Given the description of an element on the screen output the (x, y) to click on. 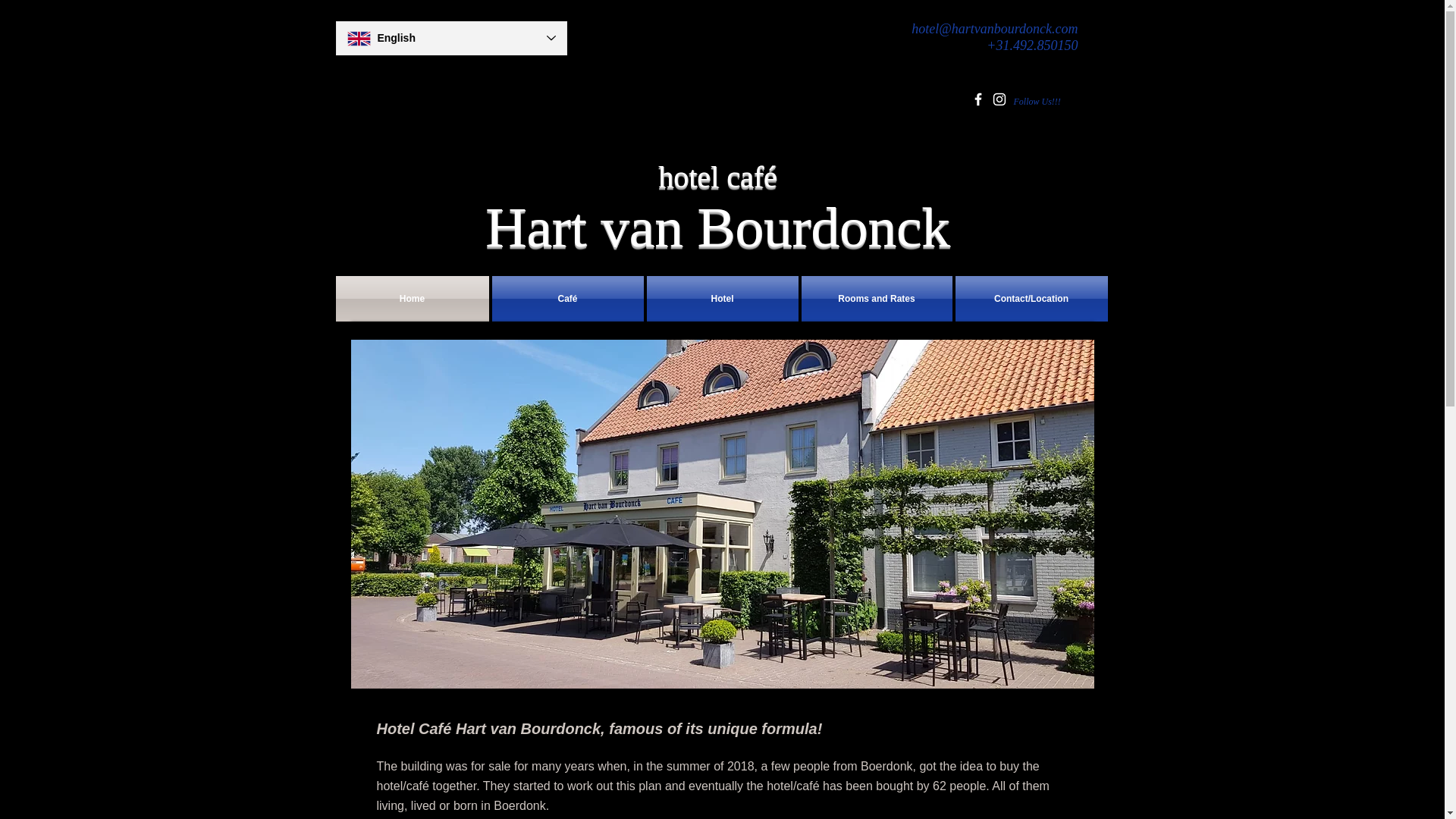
Hotel (722, 298)
Home (411, 298)
Rooms and Rates (876, 298)
